Given the description of an element on the screen output the (x, y) to click on. 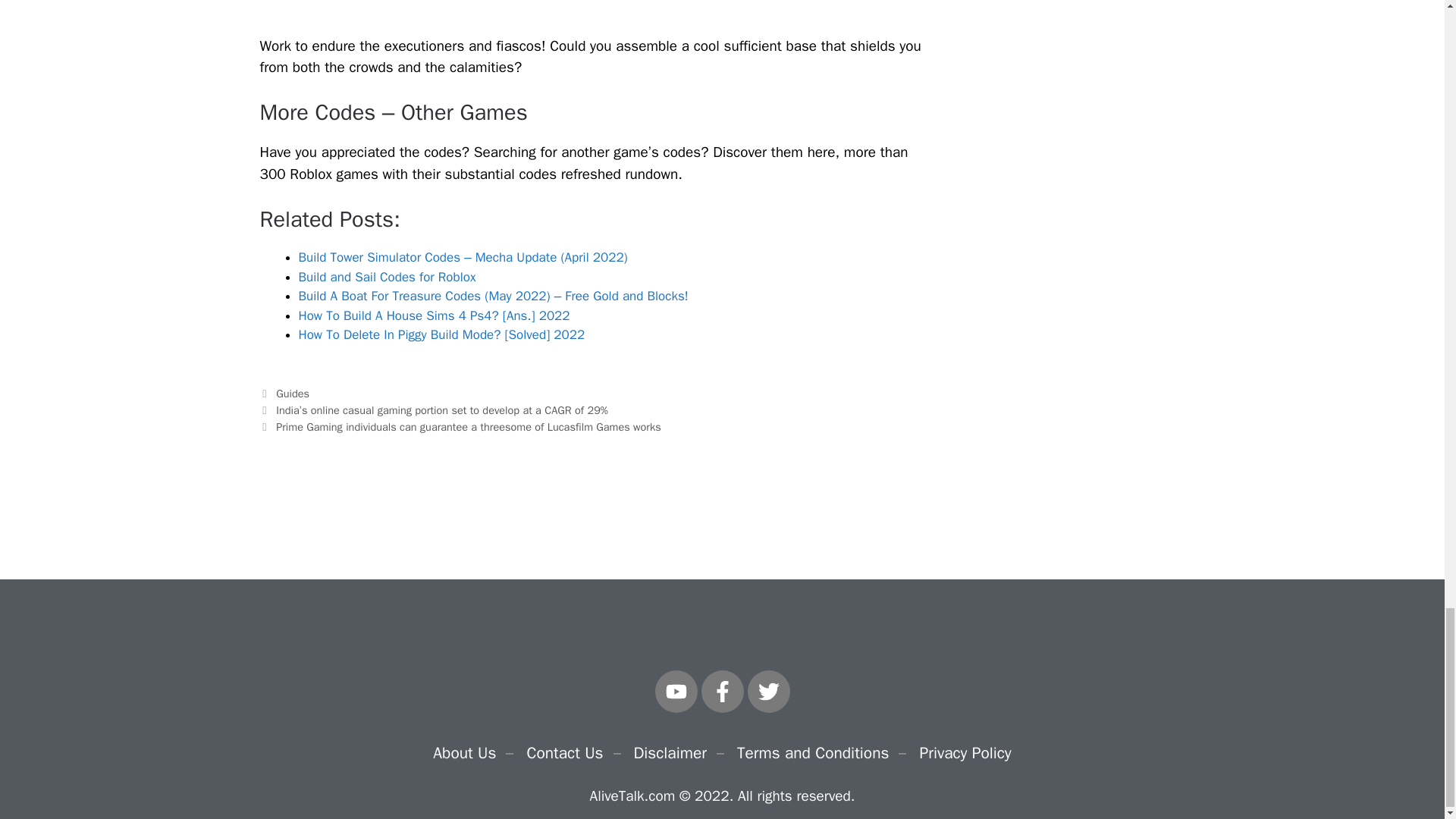
Previous (433, 409)
About Us (464, 752)
Next (460, 427)
Build and Sail Codes for Roblox (387, 277)
Disclaimer (670, 752)
Contact Us (564, 752)
Guides (292, 393)
